Given the description of an element on the screen output the (x, y) to click on. 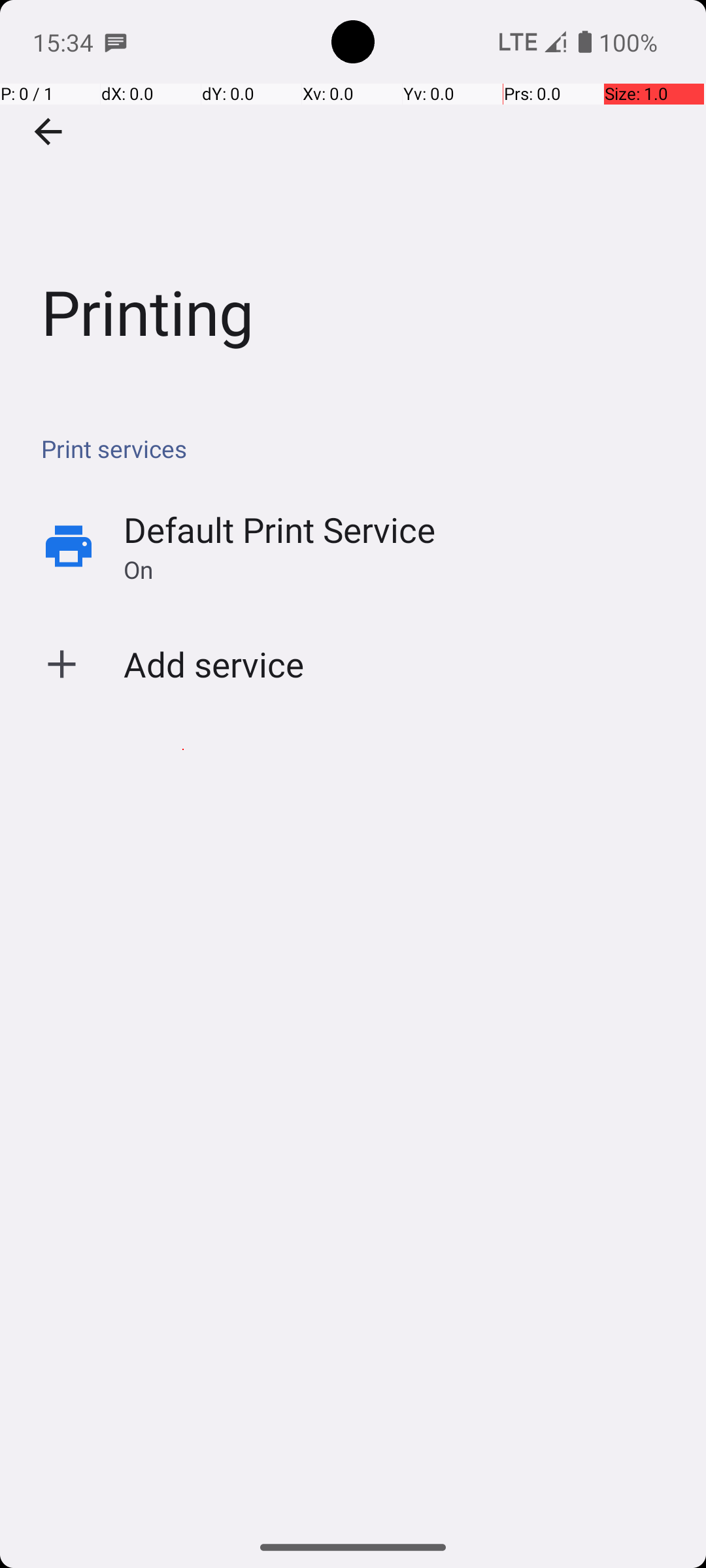
Printing Element type: android.widget.FrameLayout (353, 195)
Print services Element type: android.widget.TextView (359, 448)
Default Print Service Element type: android.widget.TextView (279, 529)
Add service Element type: android.widget.TextView (213, 663)
